Given the description of an element on the screen output the (x, y) to click on. 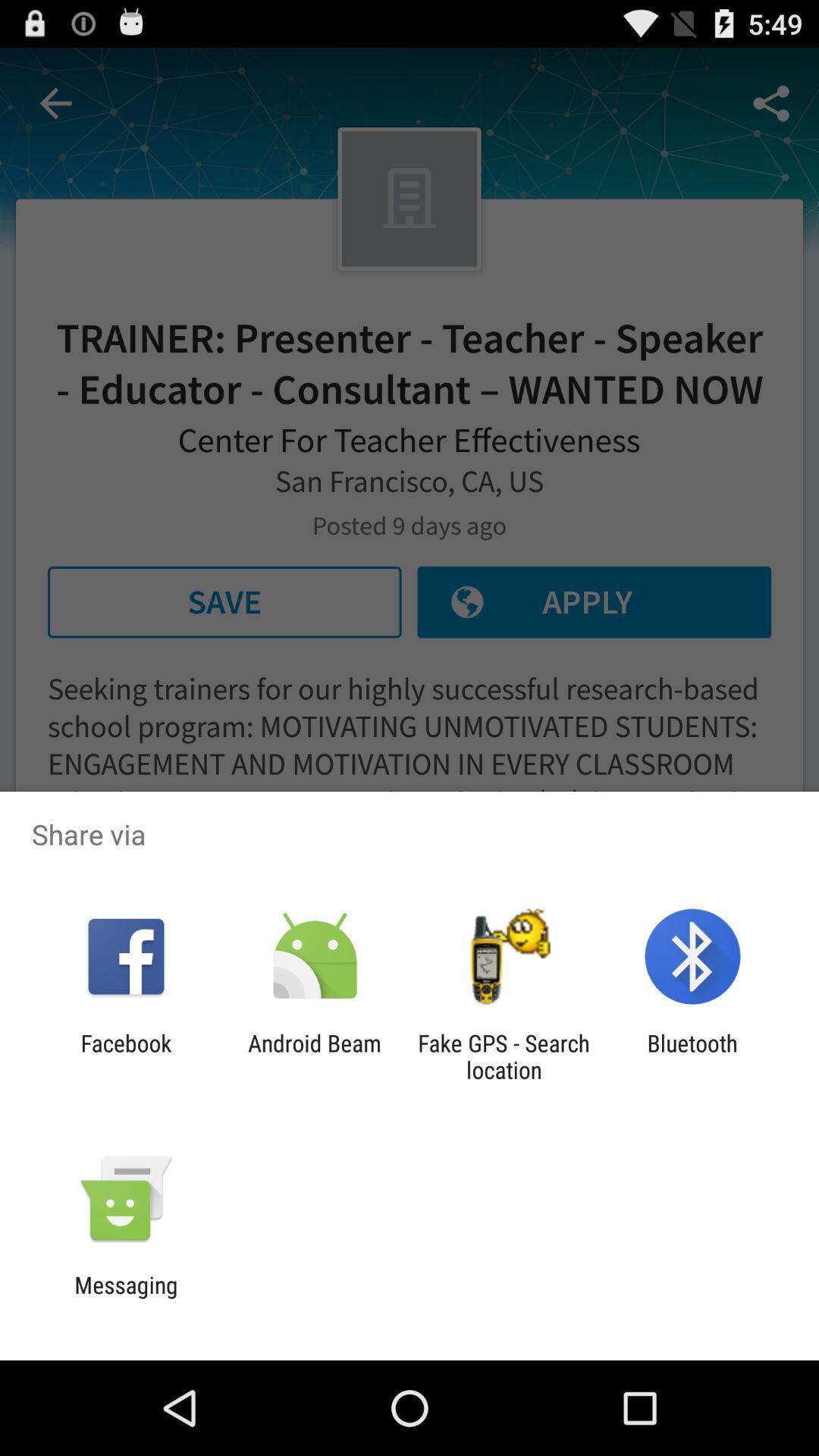
open app next to android beam icon (503, 1056)
